Given the description of an element on the screen output the (x, y) to click on. 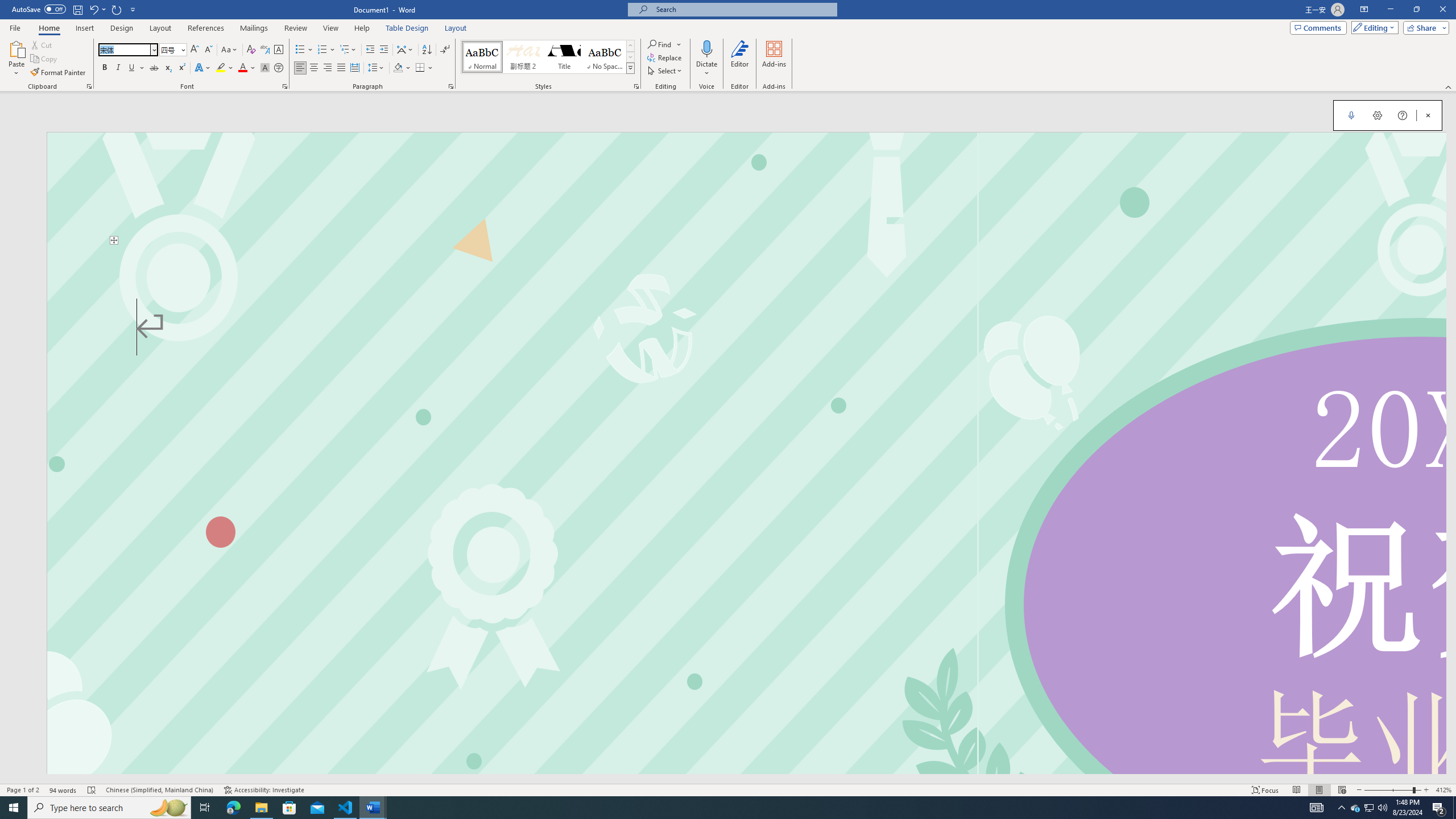
Font Color Red (241, 67)
